Given the description of an element on the screen output the (x, y) to click on. 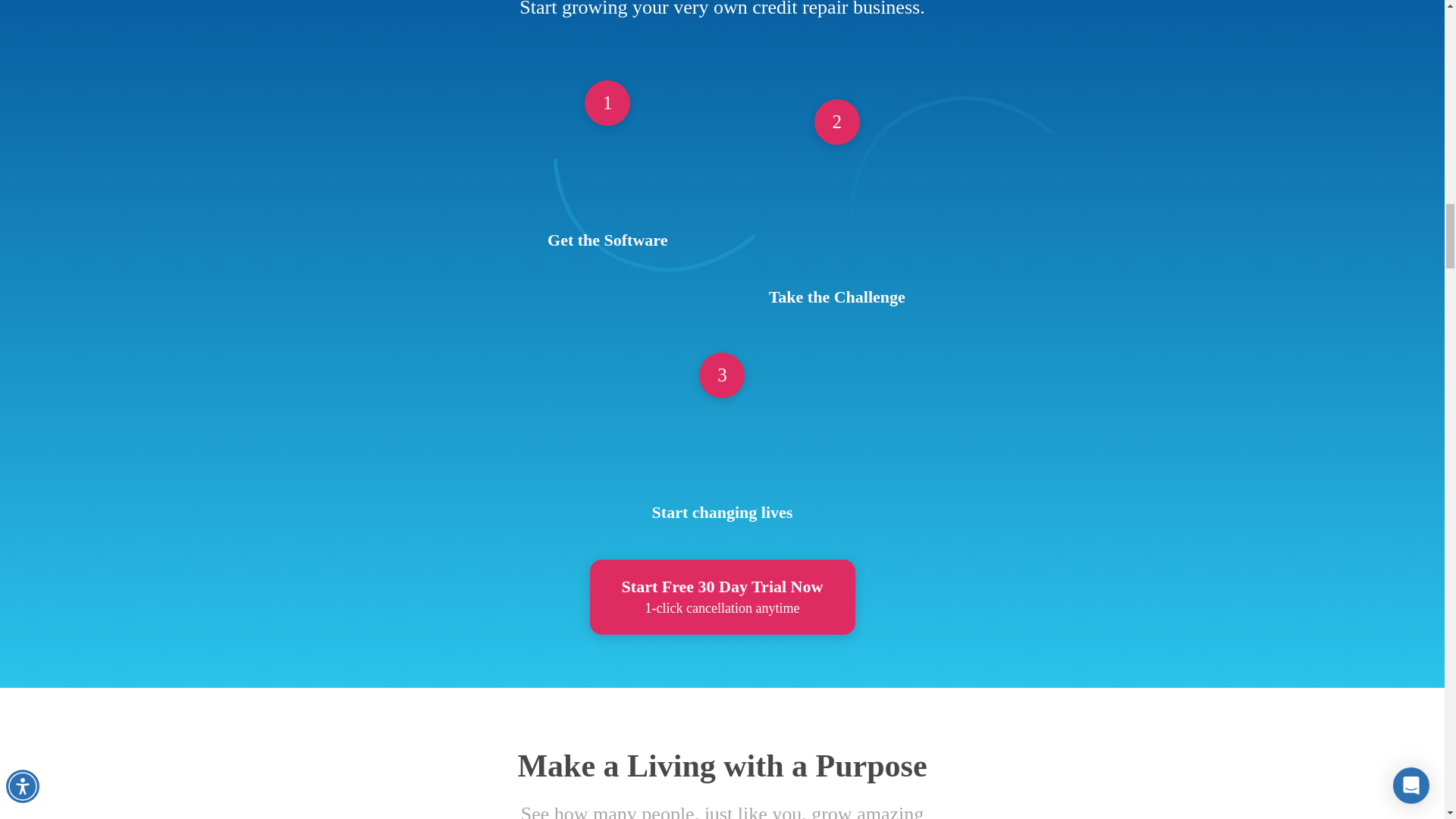
Start Free 30 Day Trial Now 1-click cancellation anytime (722, 596)
